Given the description of an element on the screen output the (x, y) to click on. 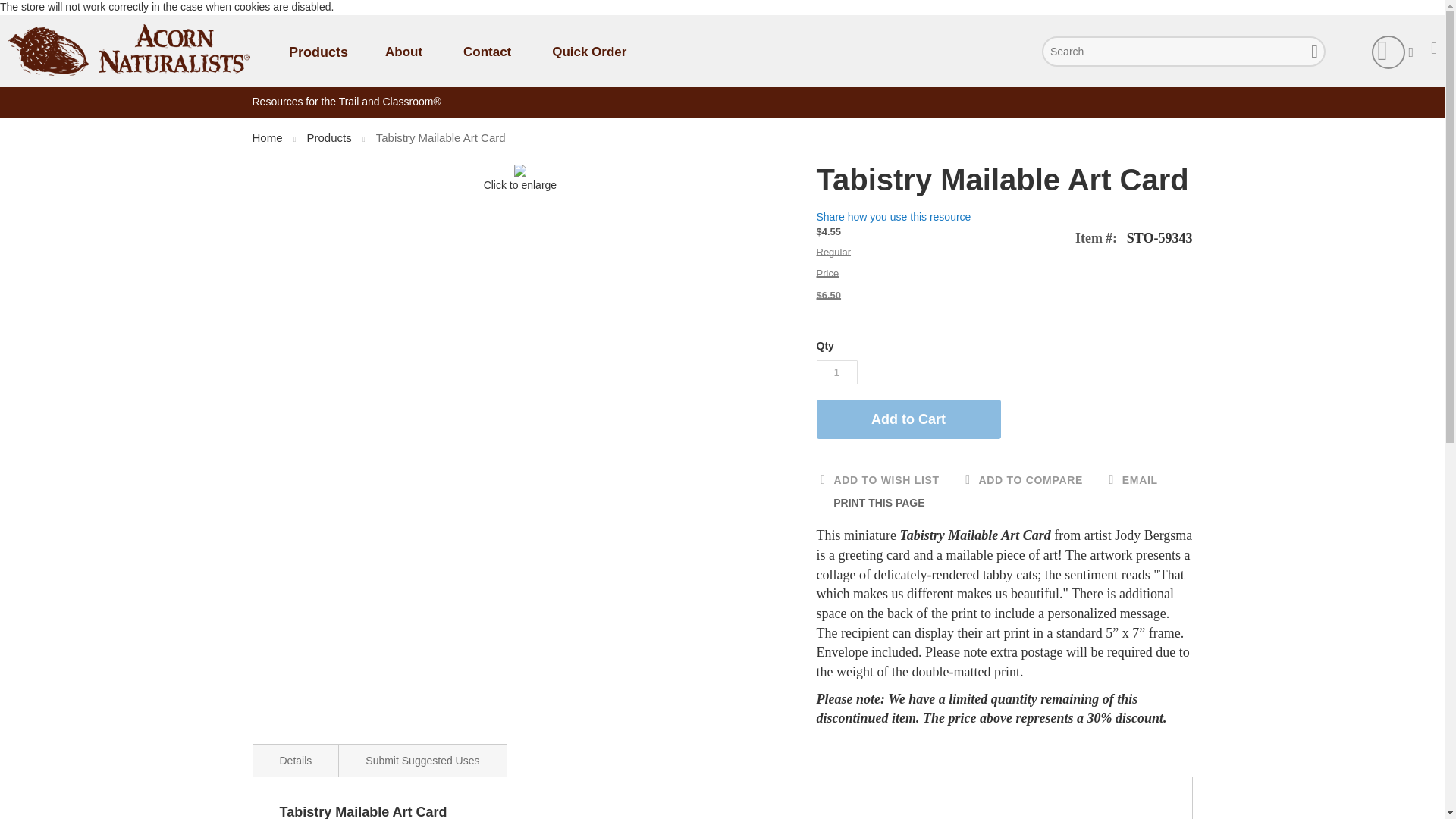
Products (331, 137)
Go to Home Page (268, 137)
Add to Cart (907, 418)
Share how you use this resource (893, 216)
About (403, 51)
ADD TO WISH LIST (877, 480)
ADD TO COMPARE (1021, 480)
1 (836, 372)
EMAIL (1131, 480)
Submit Suggested Uses (421, 759)
